Given the description of an element on the screen output the (x, y) to click on. 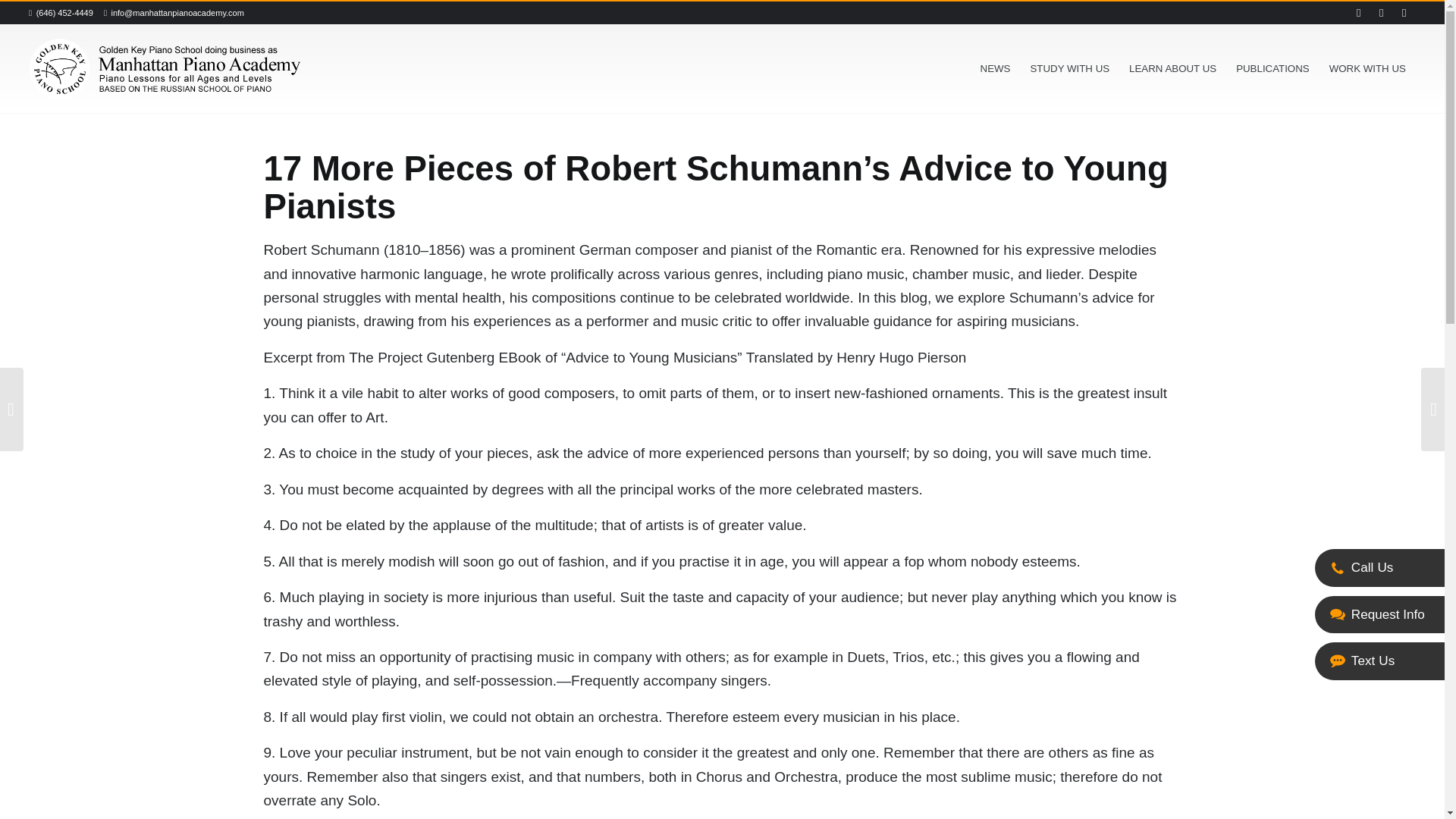
Text Us (1337, 660)
Instagram (1404, 12)
PUBLICATIONS (1272, 69)
LEARN ABOUT US (1172, 69)
Youtube (1359, 12)
NEWS (995, 69)
Request Info (1337, 614)
STUDY WITH US (1069, 69)
Facebook (1381, 12)
WORK WITH US (1367, 69)
Call Us (1337, 567)
